Given the description of an element on the screen output the (x, y) to click on. 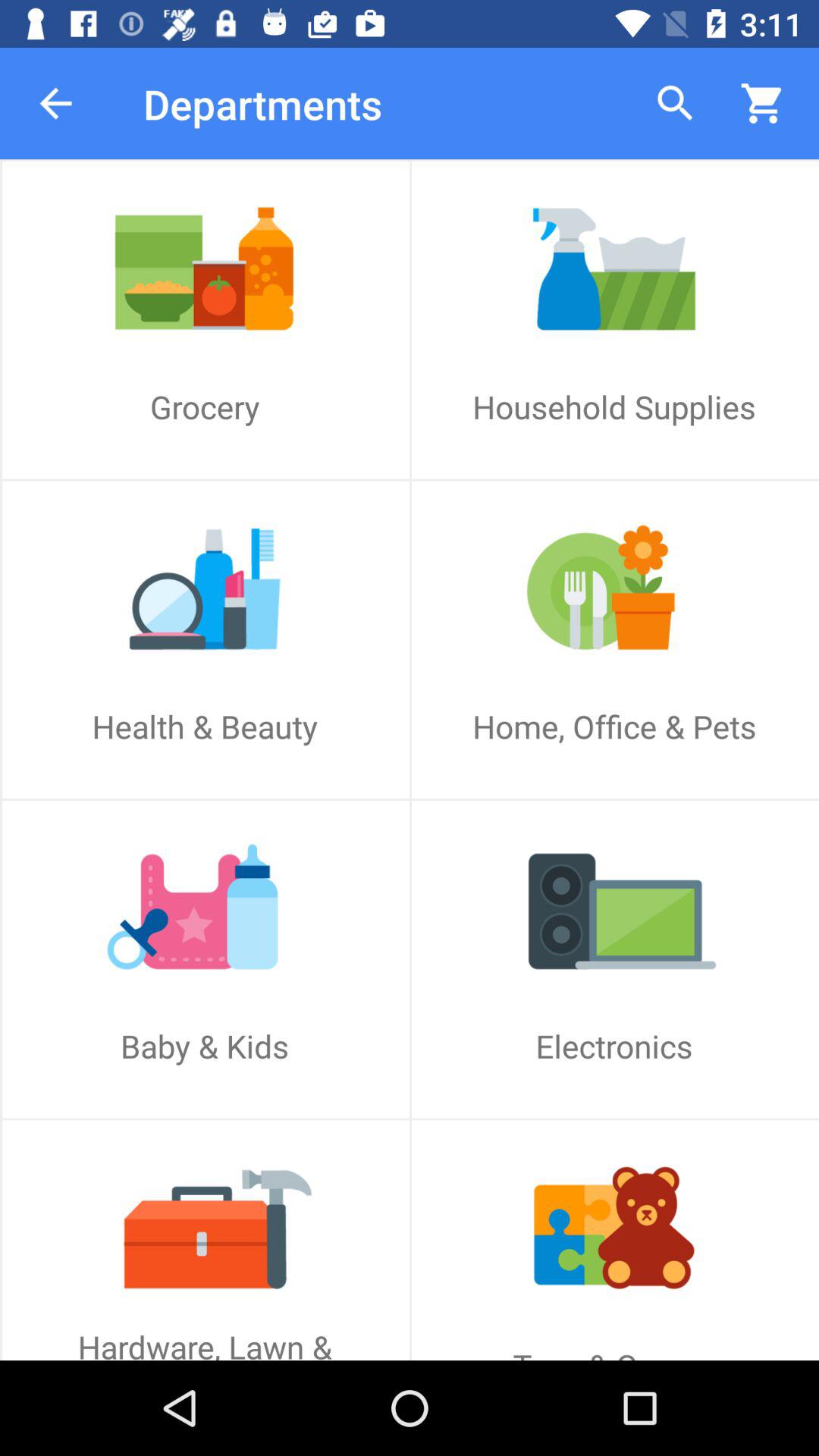
turn on item next to the departments app (55, 103)
